Given the description of an element on the screen output the (x, y) to click on. 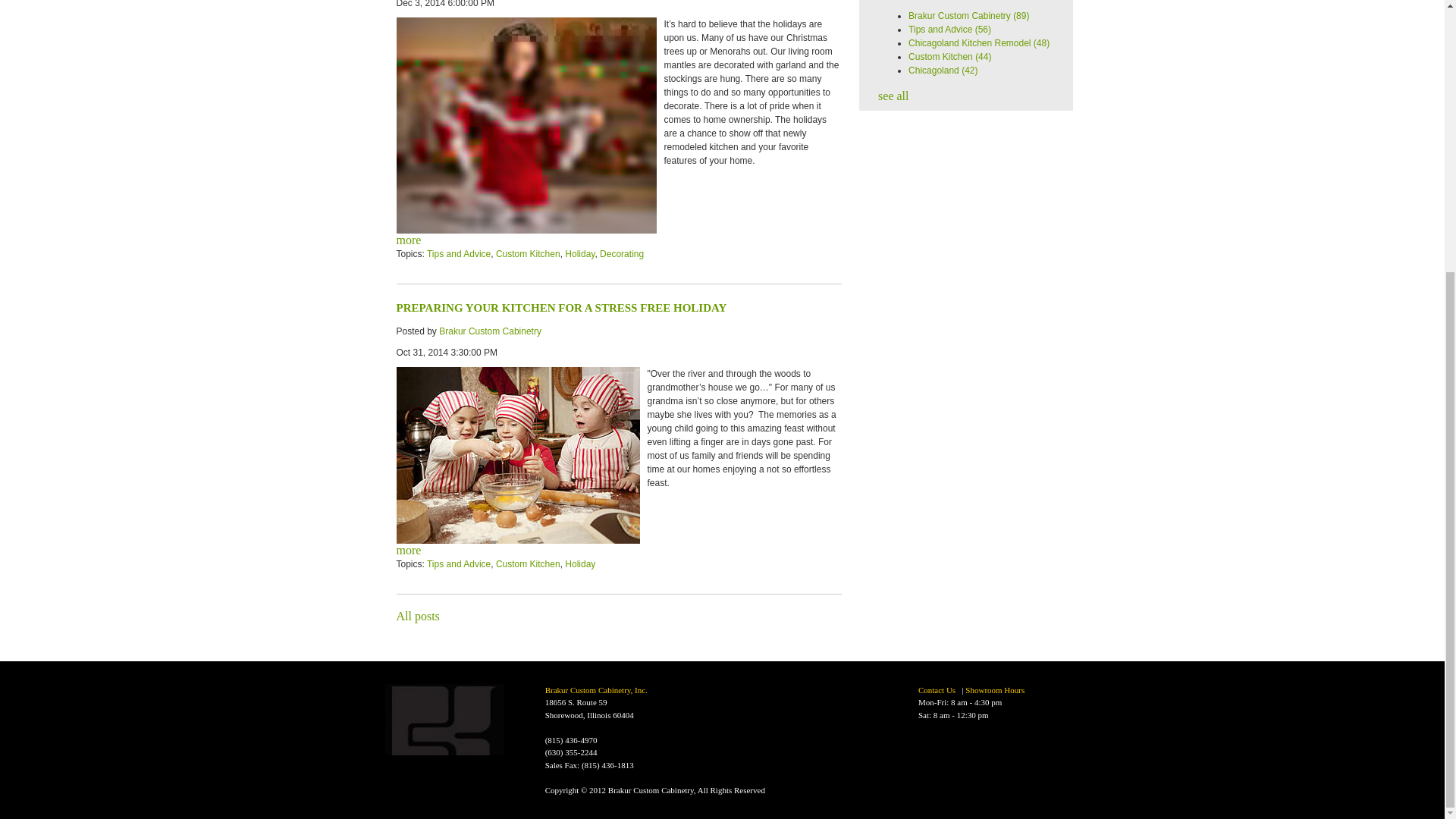
Brakur Custom Cabinetry (490, 330)
Tips and Advice (458, 563)
Tips and Advice (458, 253)
Custom Kitchen (528, 253)
Holiday (579, 563)
Custom Kitchen (528, 563)
Holiday (579, 253)
All posts (417, 615)
Decorating (621, 253)
more (408, 549)
PREPARING YOUR KITCHEN FOR A STRESS FREE HOLIDAY (561, 307)
more (408, 239)
